Given the description of an element on the screen output the (x, y) to click on. 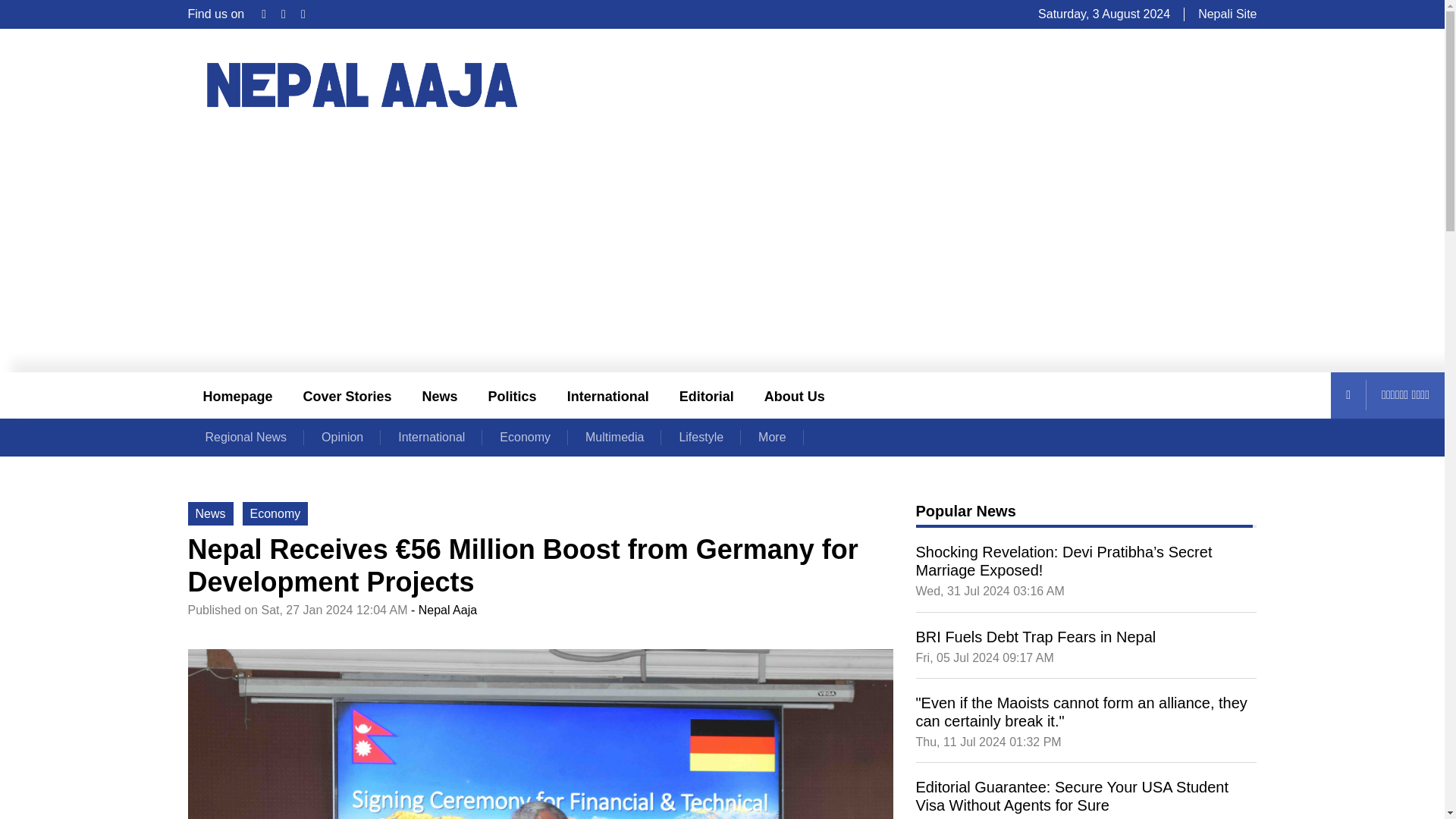
Nepali Site (1227, 13)
International (430, 437)
Editorial (706, 395)
International (607, 395)
Economy (275, 513)
News (440, 395)
News (209, 513)
Economy (524, 437)
Opinion (342, 437)
Homepage (237, 395)
About Us (794, 395)
Cover Stories (347, 395)
- Nepal Aaja (443, 609)
Lifestyle (701, 437)
Politics (512, 395)
